Given the description of an element on the screen output the (x, y) to click on. 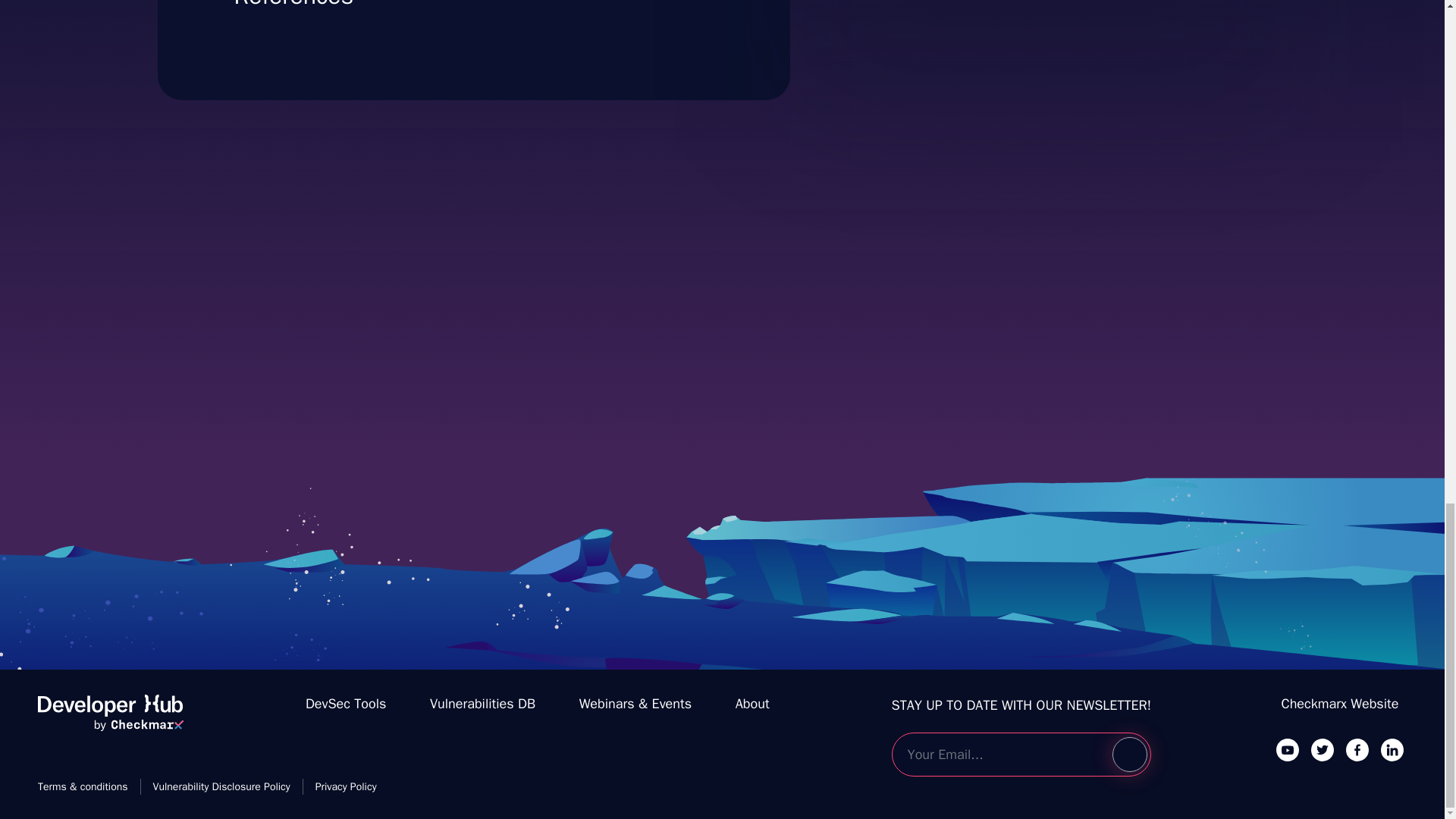
Follow us on Twitter (1322, 749)
Follow us on Linkedin (1391, 749)
Goto website home page (110, 719)
Vulnerabilities DB (482, 703)
Checkmarx Website (1340, 703)
Privacy Policy (346, 786)
DevSec Tools (345, 703)
About (752, 703)
Submit form (1129, 754)
Follow us on Facebook (1356, 749)
Follow us on Youtube (1287, 749)
Vulnerability Disclosure Policy (1037, 12)
